Given the description of an element on the screen output the (x, y) to click on. 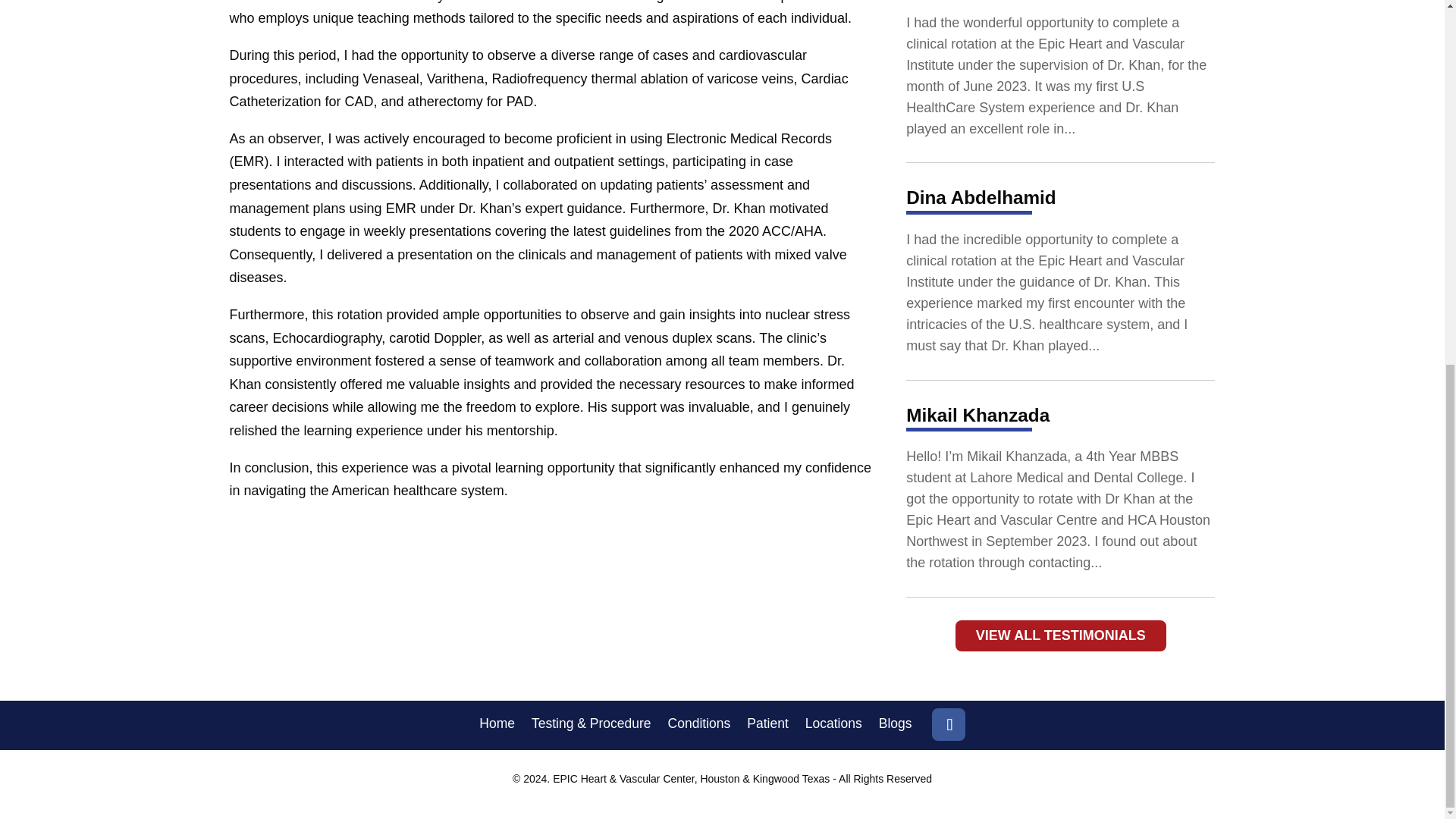
Locations (833, 726)
Conditions (699, 726)
Blogs (895, 726)
Follow on Facebook (947, 724)
Mikail Khanzada (977, 414)
VIEW ALL TESTIMONIALS (1060, 635)
Home (497, 726)
Patient (766, 726)
Dina Abdelhamid (981, 197)
